Given the description of an element on the screen output the (x, y) to click on. 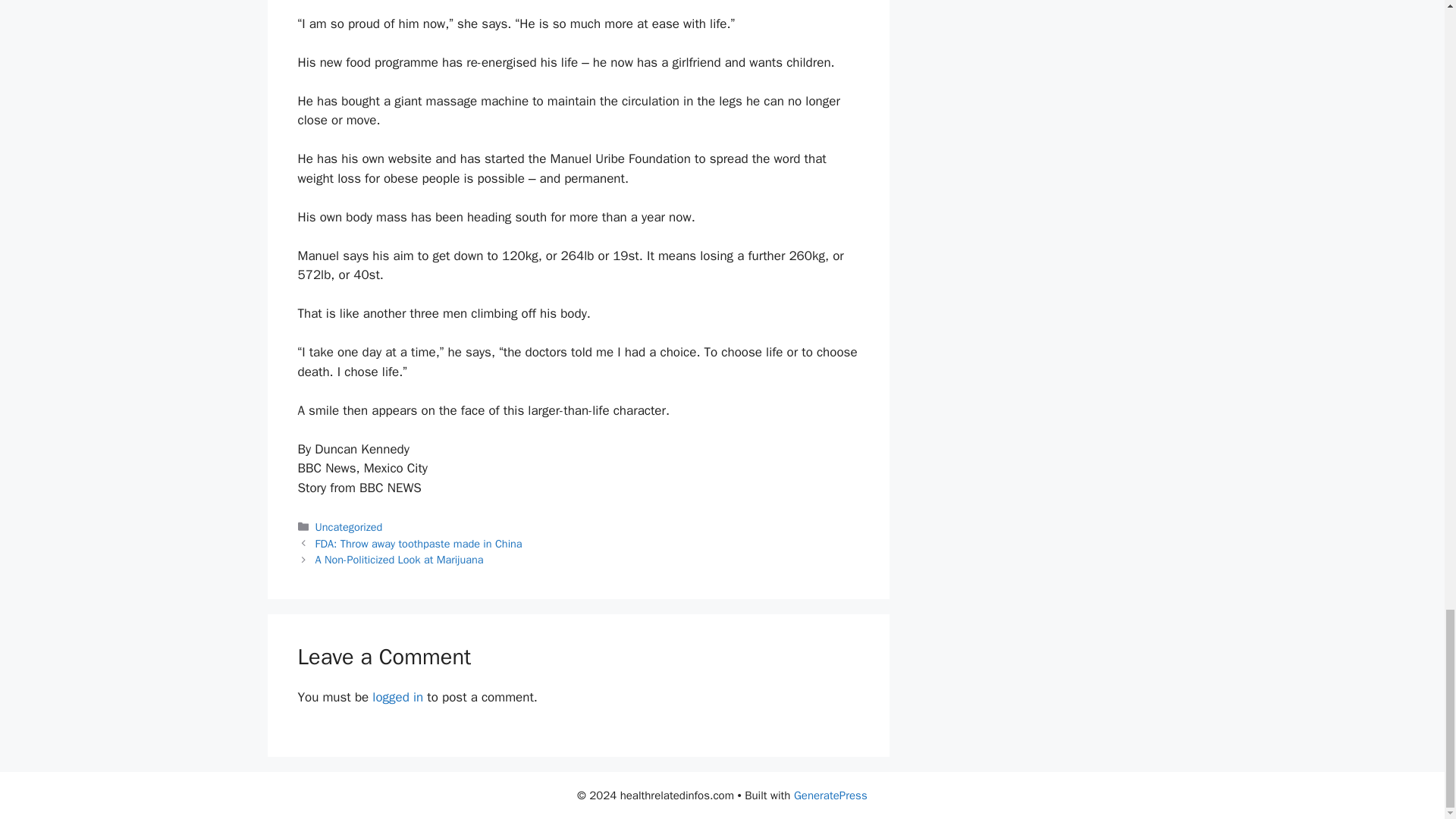
FDA: Throw away toothpaste made in China (418, 543)
Next (399, 559)
Uncategorized (348, 526)
Previous (418, 543)
A Non-Politicized Look at Marijuana (399, 559)
logged in (397, 697)
GeneratePress (830, 795)
